Given the description of an element on the screen output the (x, y) to click on. 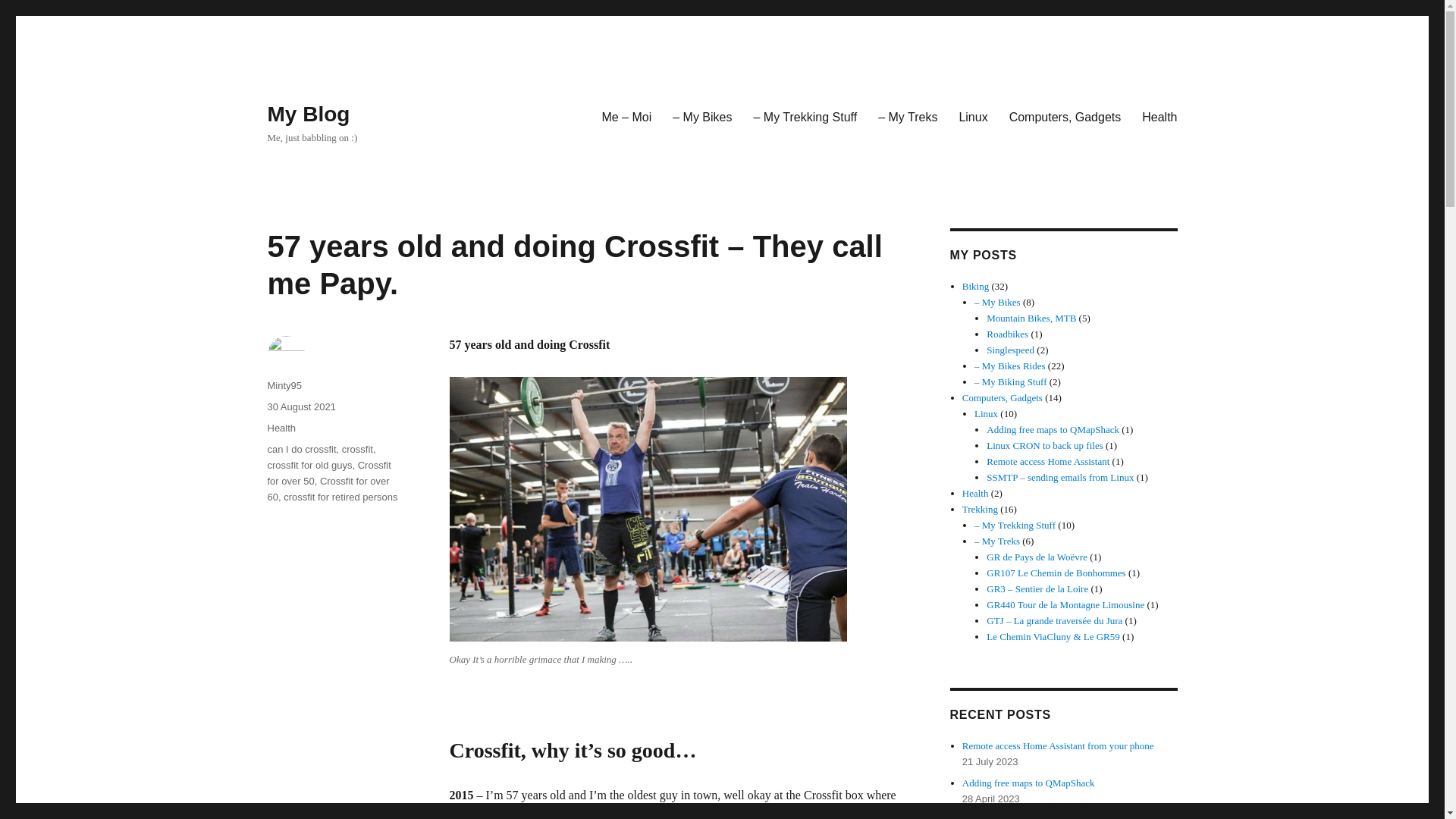
30 August 2021 (300, 406)
Remote access Home Assistant (1048, 460)
Linux (985, 413)
crossfit for old guys (309, 464)
Linux CRON to back up files (1044, 445)
Health (1159, 116)
Biking (975, 285)
Singlespeed (1010, 349)
Crossfit for over 60 (327, 488)
Crossfit for over 50 (328, 472)
crossfit for retired persons (340, 496)
crossfit (357, 449)
Minty95 (283, 385)
Health (280, 428)
can I do crossfit (301, 449)
